Given the description of an element on the screen output the (x, y) to click on. 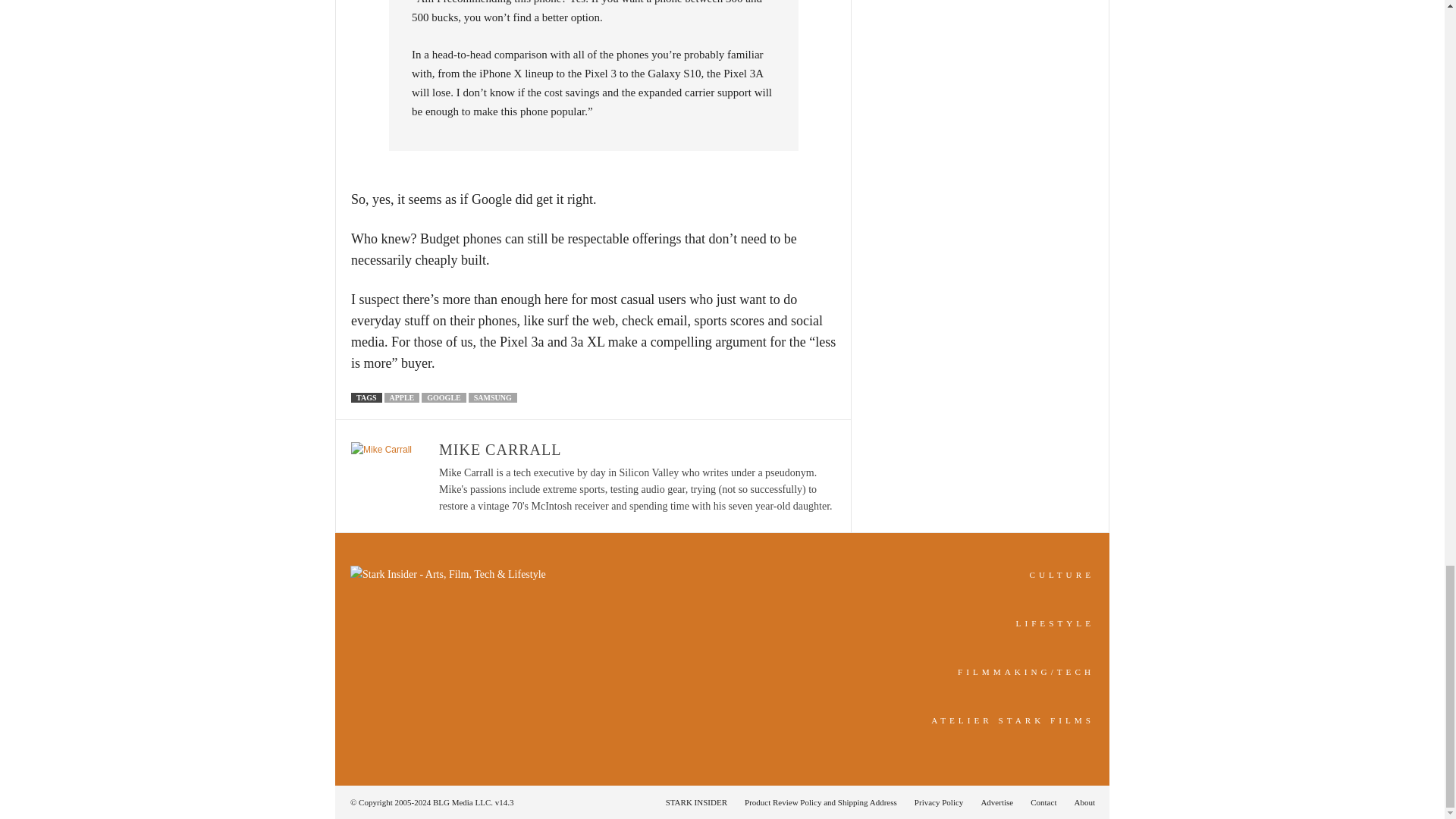
CULTURE (1061, 574)
Privacy Policy (939, 801)
APPLE (401, 397)
MIKE CARRALL (499, 449)
About (1079, 801)
LIFESTYLE (1055, 623)
SAMSUNG (492, 397)
STARK INSIDER (696, 801)
Contact (1043, 801)
Indie film, music, arts in San Francisco and Silicon Valley (1061, 574)
Product Review Policy and Shipping Address (820, 801)
Advertise (996, 801)
GOOGLE (443, 397)
ATELIER STARK FILMS (1012, 719)
